Given the description of an element on the screen output the (x, y) to click on. 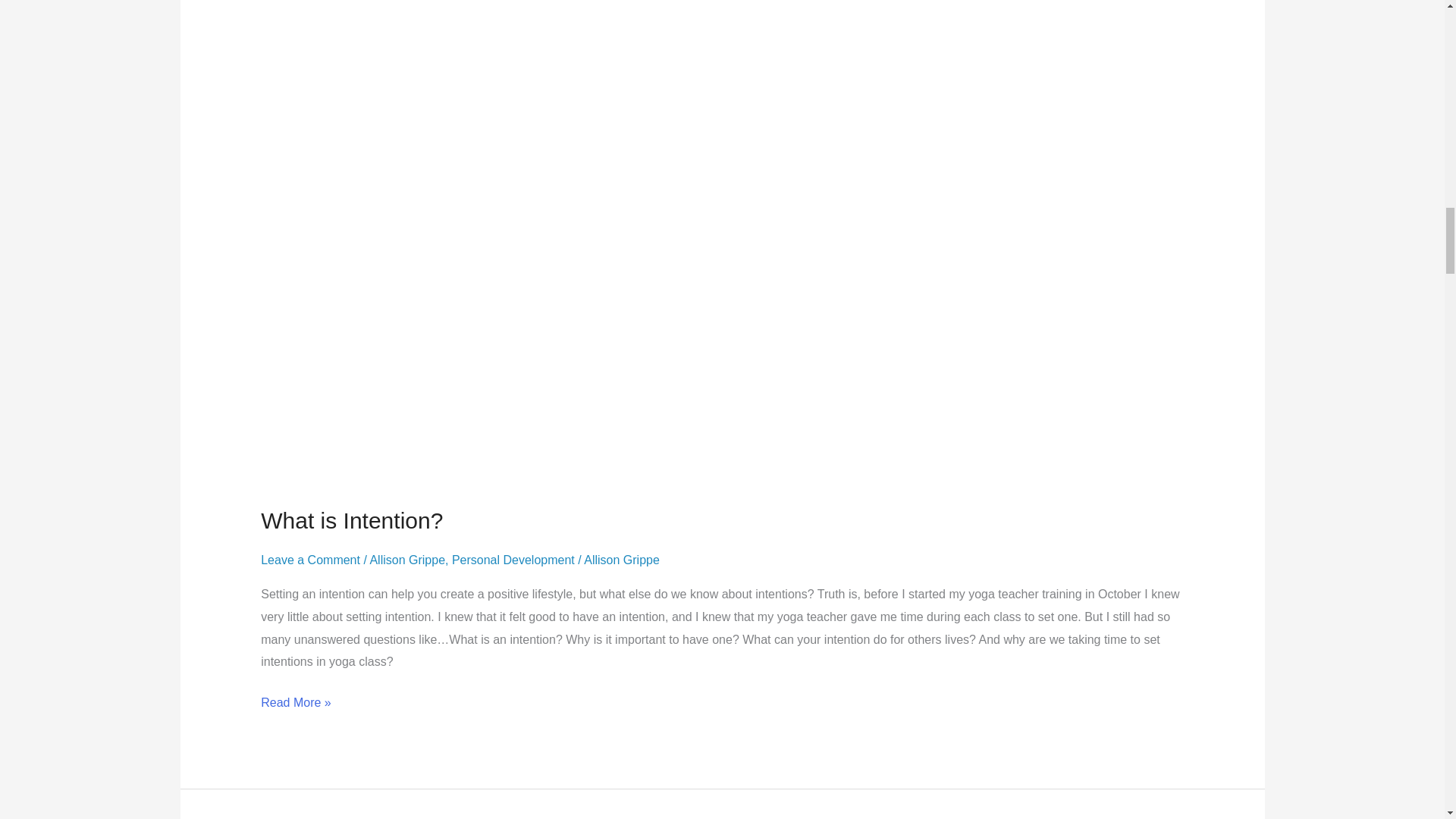
What is Intention? (351, 520)
Personal Development (513, 559)
View all posts by Allison Grippe (621, 559)
Allison Grippe (407, 559)
Leave a Comment (309, 559)
Allison Grippe (621, 559)
